Given the description of an element on the screen output the (x, y) to click on. 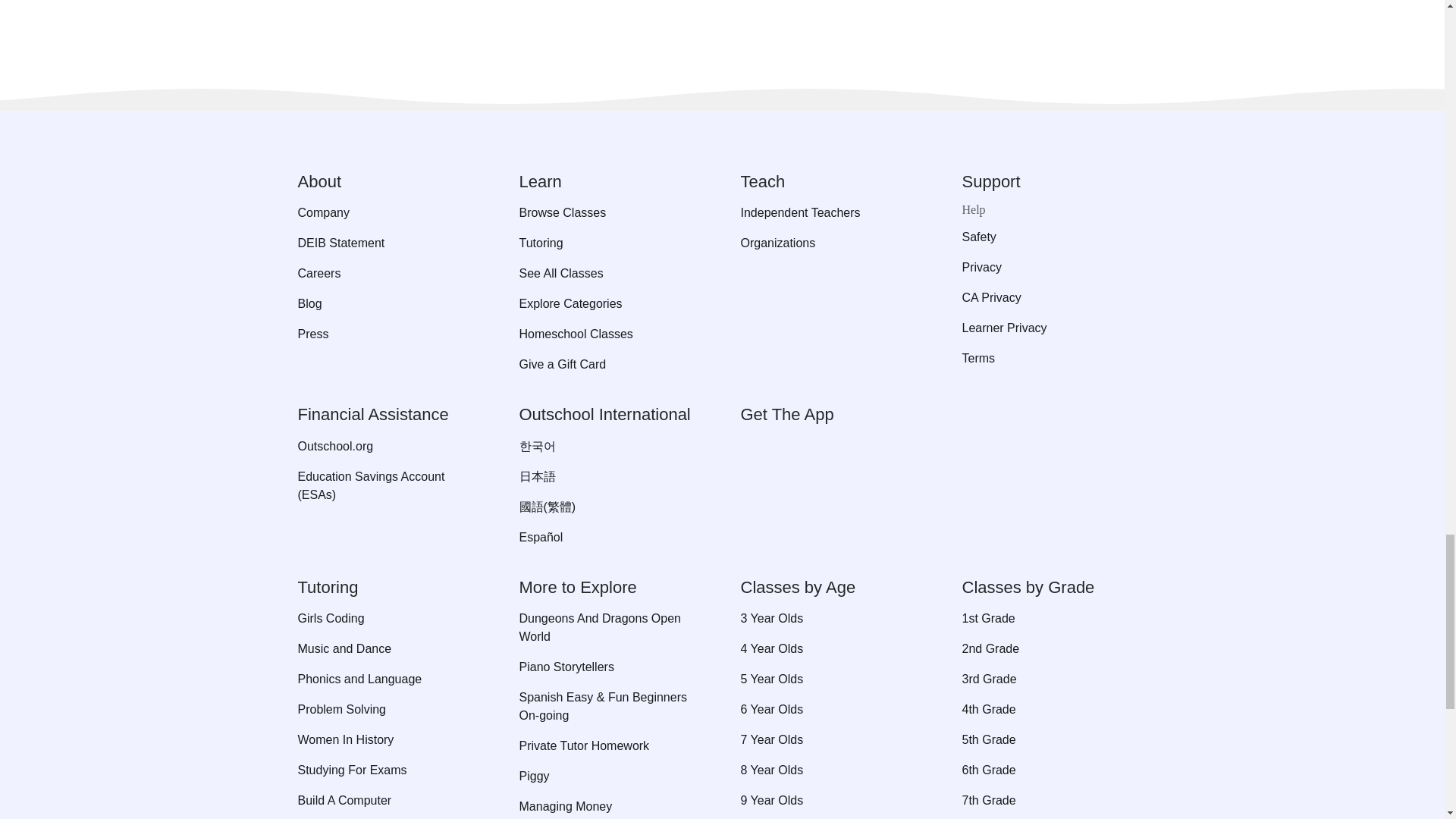
Outschool.org (389, 446)
See All Classes (610, 273)
DEIB Statement (389, 243)
Explore Categories (610, 303)
Give a Gift Card (610, 364)
Browse Classes (610, 212)
Learner Privacy (1053, 328)
Organizations (831, 243)
Help (1053, 209)
CA Privacy (1053, 298)
